Given the description of an element on the screen output the (x, y) to click on. 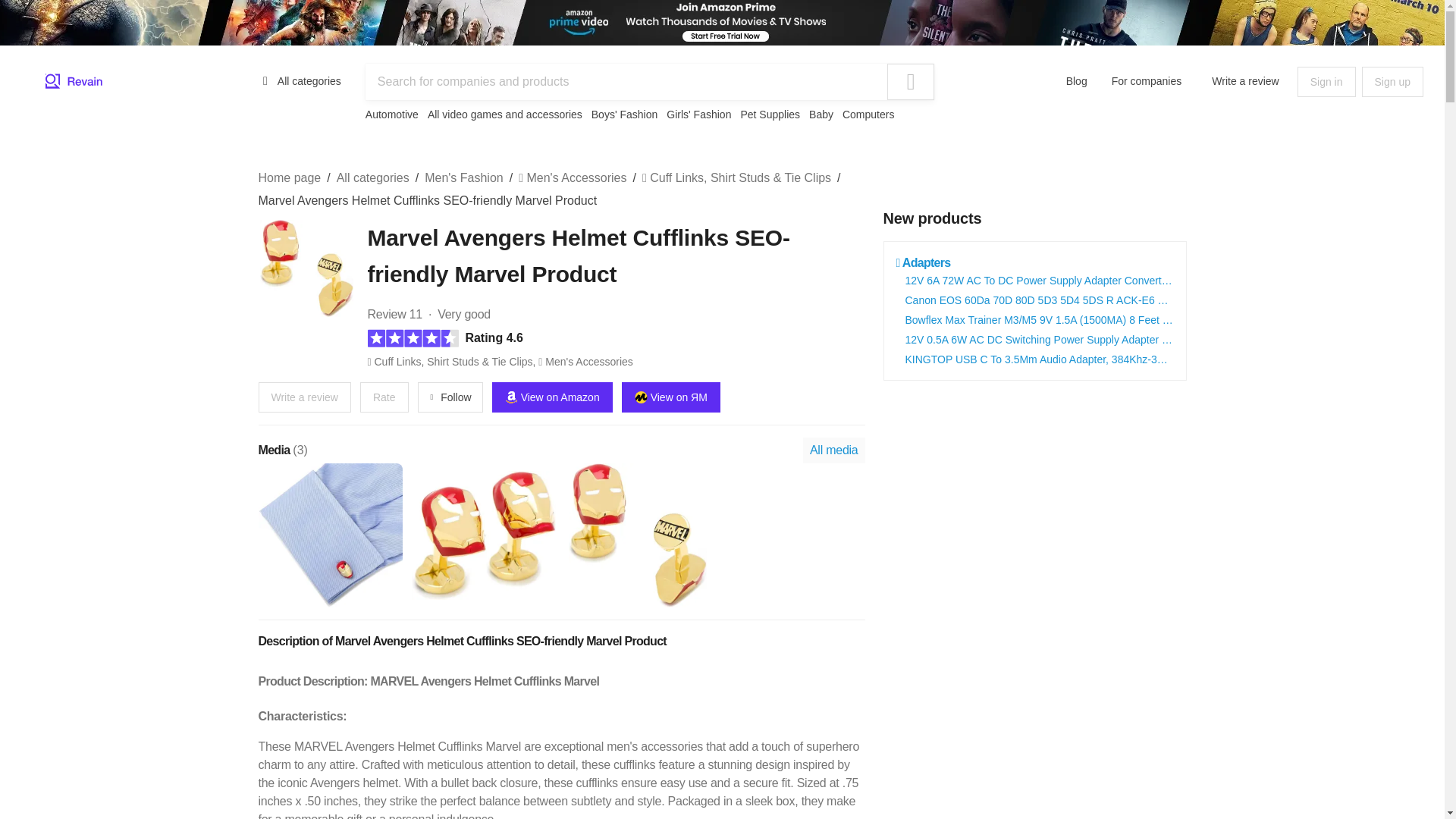
Home Page (74, 82)
Sign in (1326, 81)
All media (833, 450)
Write a review (1244, 80)
Follow (450, 397)
Write a review (303, 397)
All categories (372, 178)
All categories (300, 80)
Blog (1076, 80)
